Given the description of an element on the screen output the (x, y) to click on. 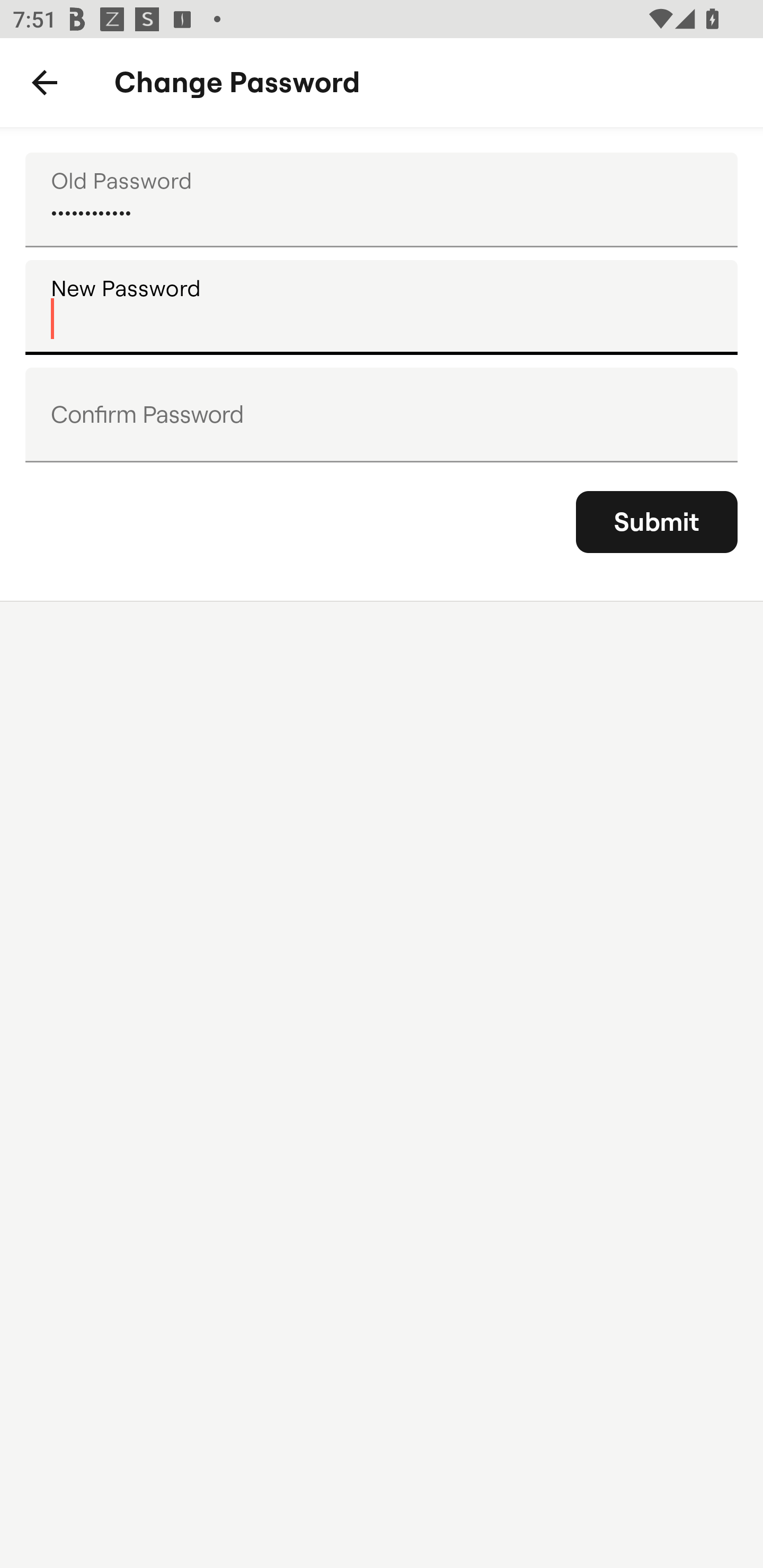
Back (44, 82)
Taylor Swift (381, 199)
New Password (381, 307)
Confirm Password (381, 414)
Submit (656, 521)
